Given the description of an element on the screen output the (x, y) to click on. 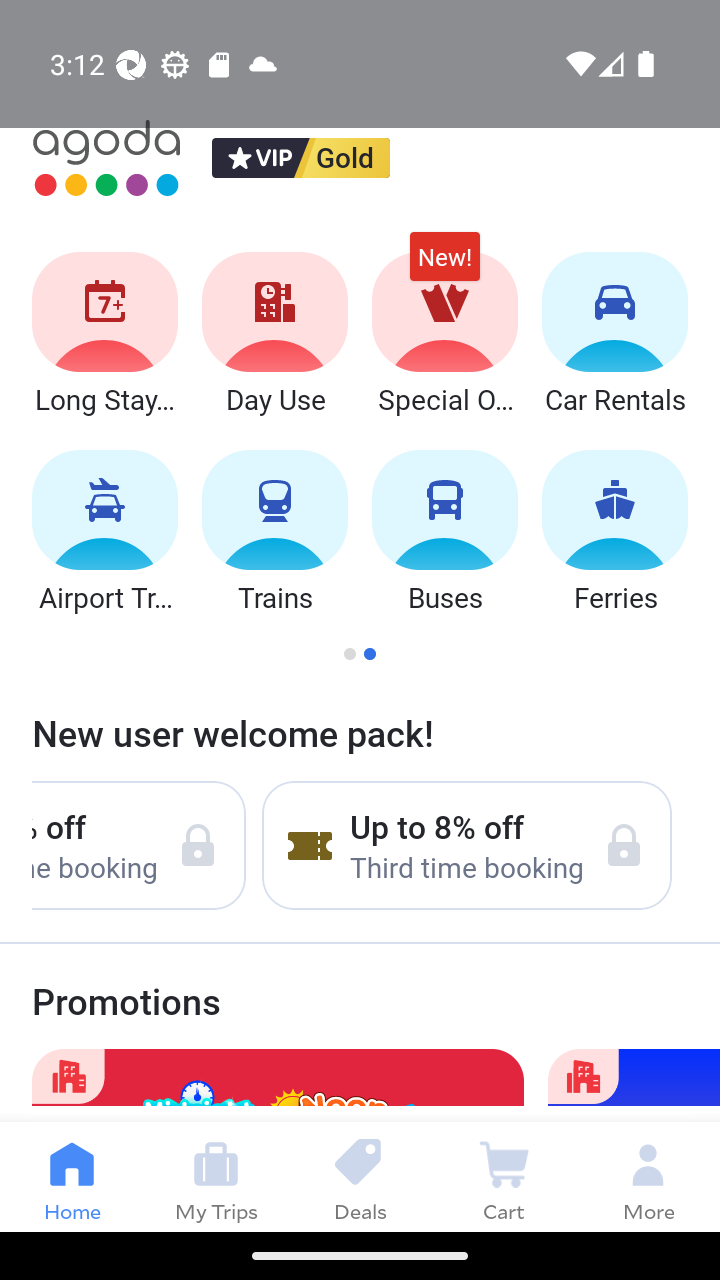
New! (444, 265)
Home (72, 1176)
My Trips (216, 1176)
Deals (360, 1176)
Cart (504, 1176)
More (648, 1176)
